Given the description of an element on the screen output the (x, y) to click on. 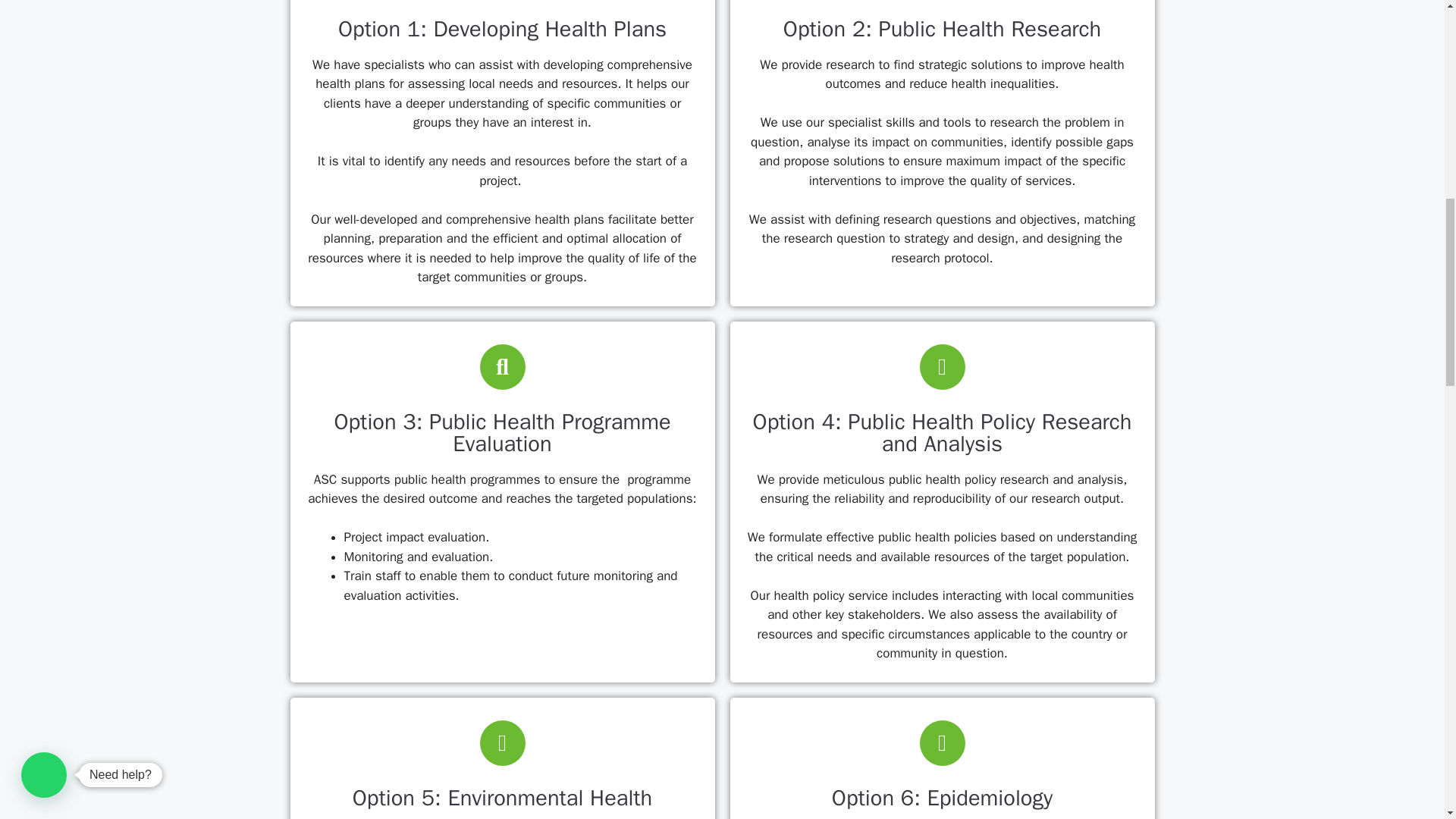
Scroll back to top (1406, 720)
